Given the description of an element on the screen output the (x, y) to click on. 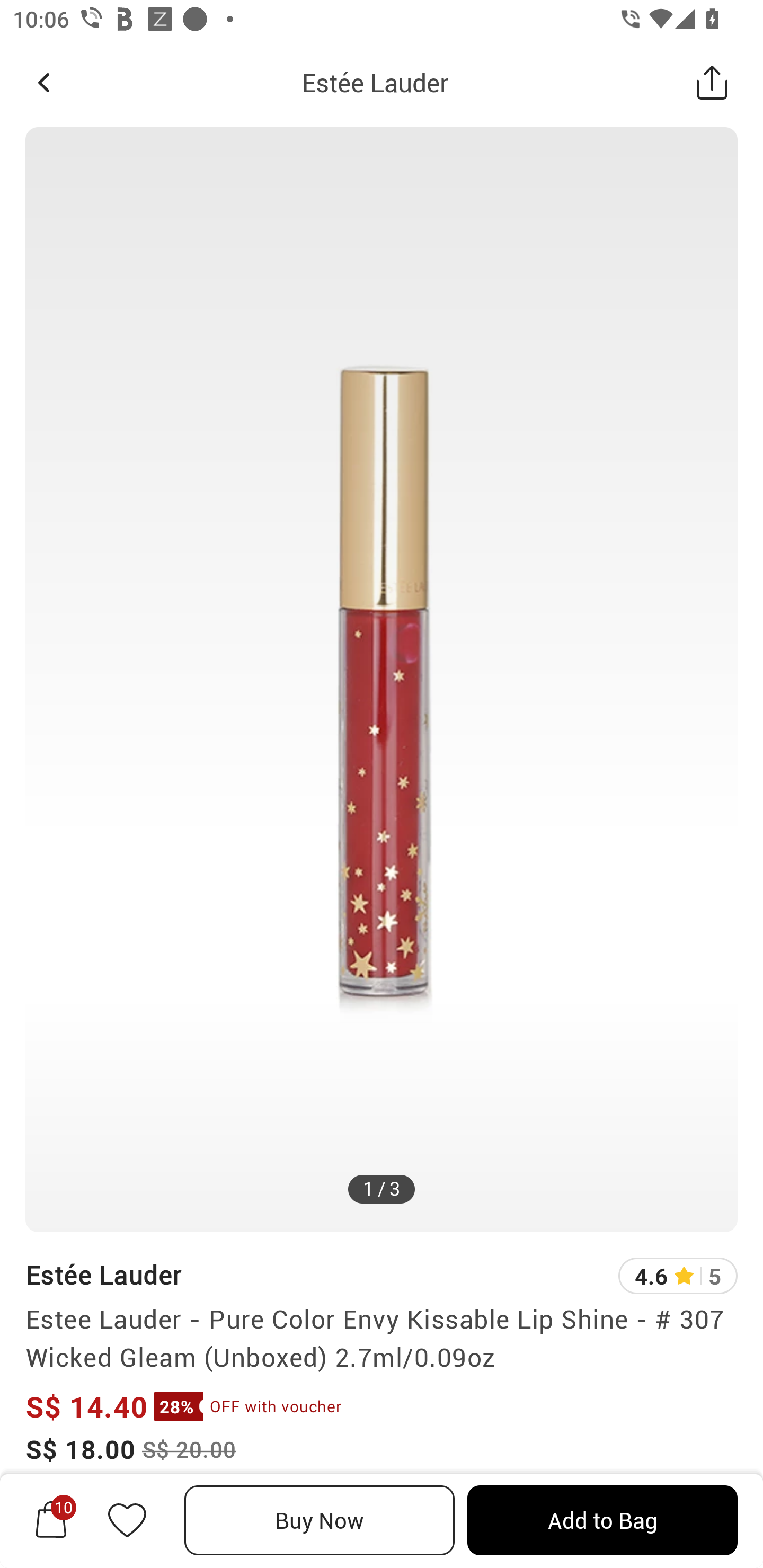
Estée Lauder (375, 82)
Share this Product (711, 82)
Estée Lauder (103, 1274)
4.6 5 (677, 1275)
Buy Now (319, 1519)
Add to Bag (601, 1519)
10 (50, 1520)
